Given the description of an element on the screen output the (x, y) to click on. 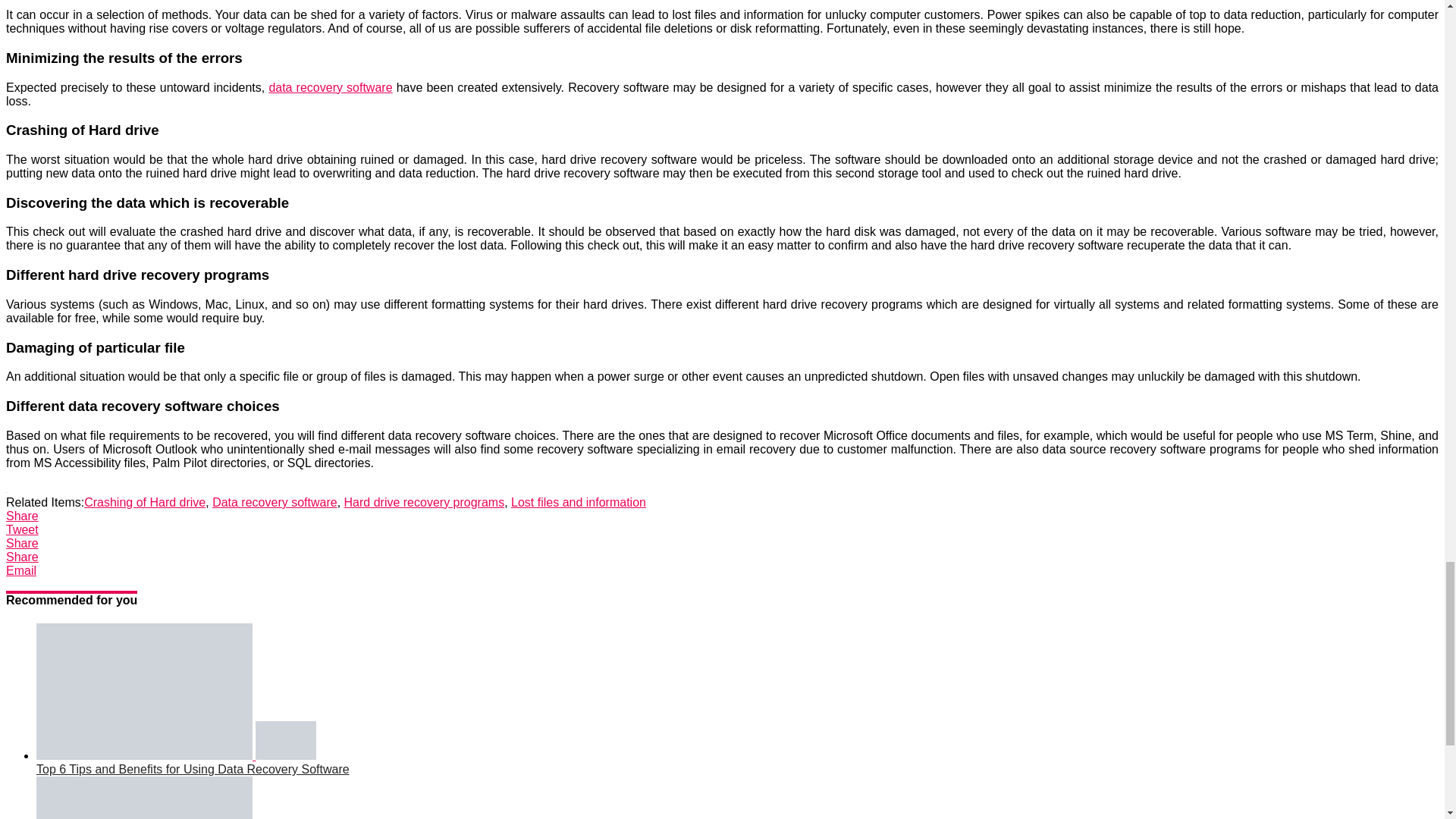
Top 6 Tips and Benefits for Using Data Recovery Software (175, 755)
